Given the description of an element on the screen output the (x, y) to click on. 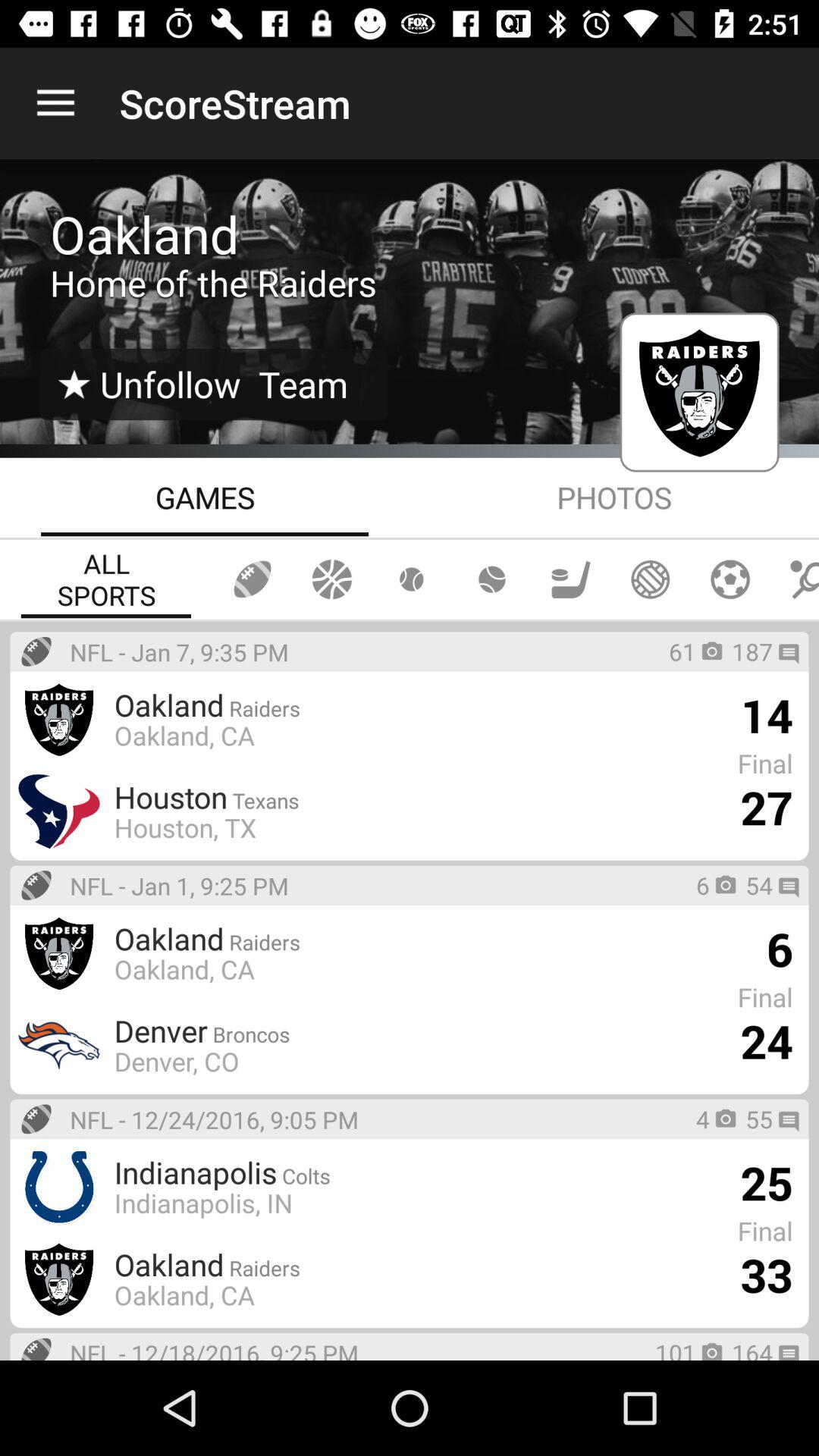
open icon to the left of the 25 item (362, 1172)
